Given the description of an element on the screen output the (x, y) to click on. 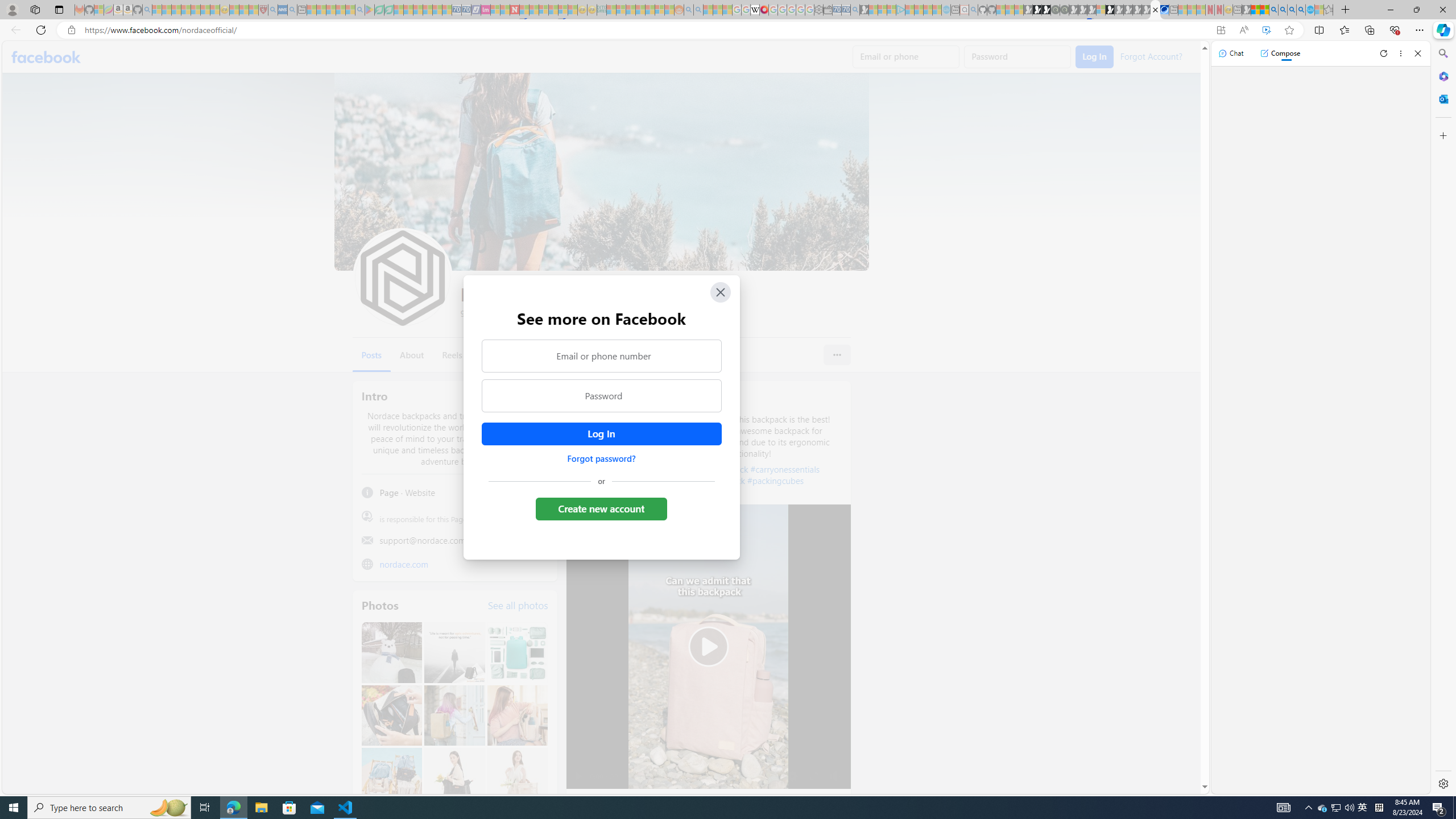
Nordace | Facebook (1154, 9)
